Given the description of an element on the screen output the (x, y) to click on. 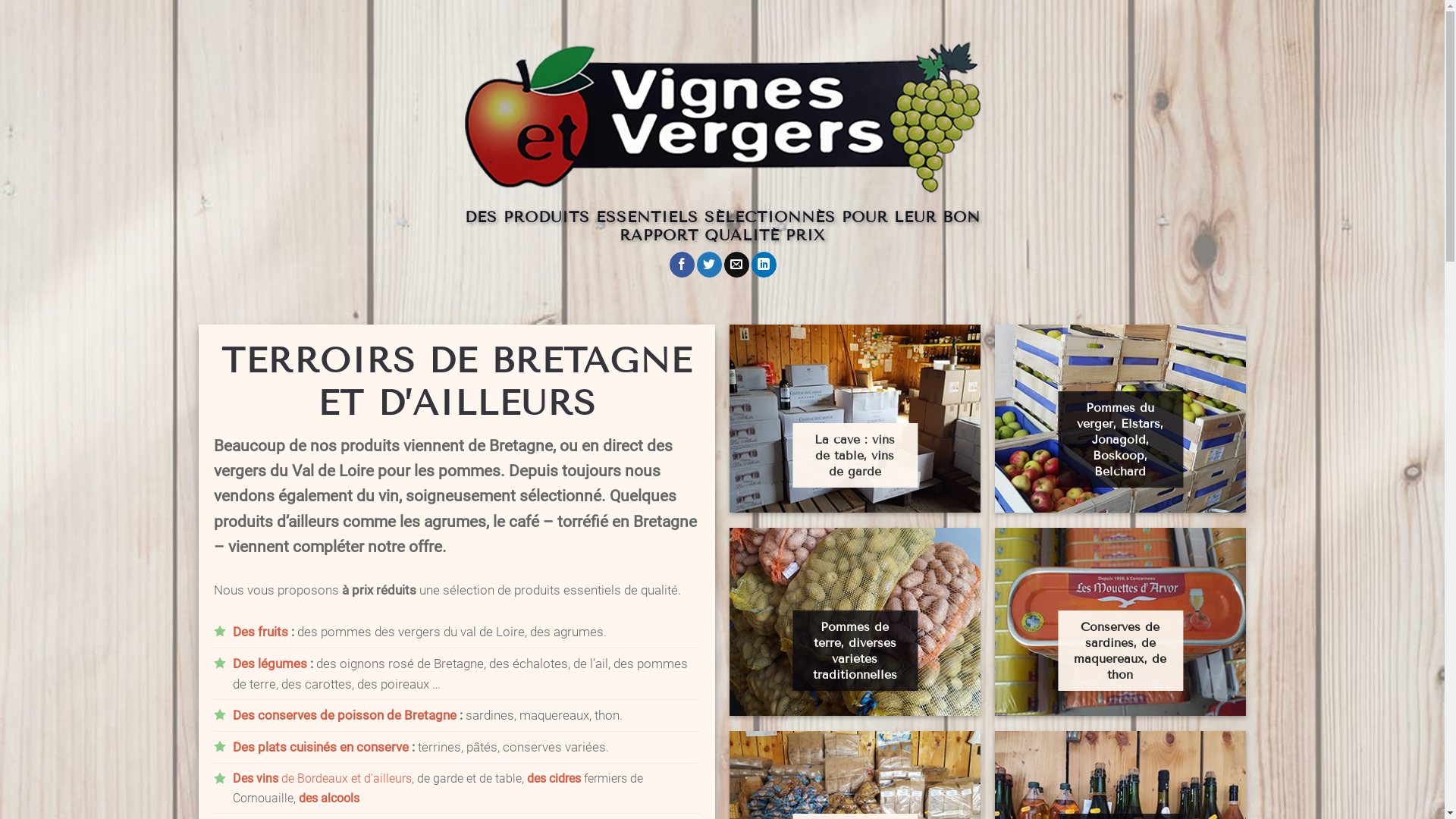
Des conserves de poisson de Bretagne Element type: text (344, 714)
des alcools Element type: text (328, 797)
Conserves de sardines, de maquereaux, de thon Element type: text (1119, 650)
Skip to content Element type: text (0, 0)
Des fruits Element type: text (260, 631)
Pommes du verger, Elstars, Jonagold, Boskoop, Belchard Element type: text (1119, 439)
La cave : vins de table, vins de garde Element type: text (854, 455)
des cidres Element type: text (553, 778)
